Given the description of an element on the screen output the (x, y) to click on. 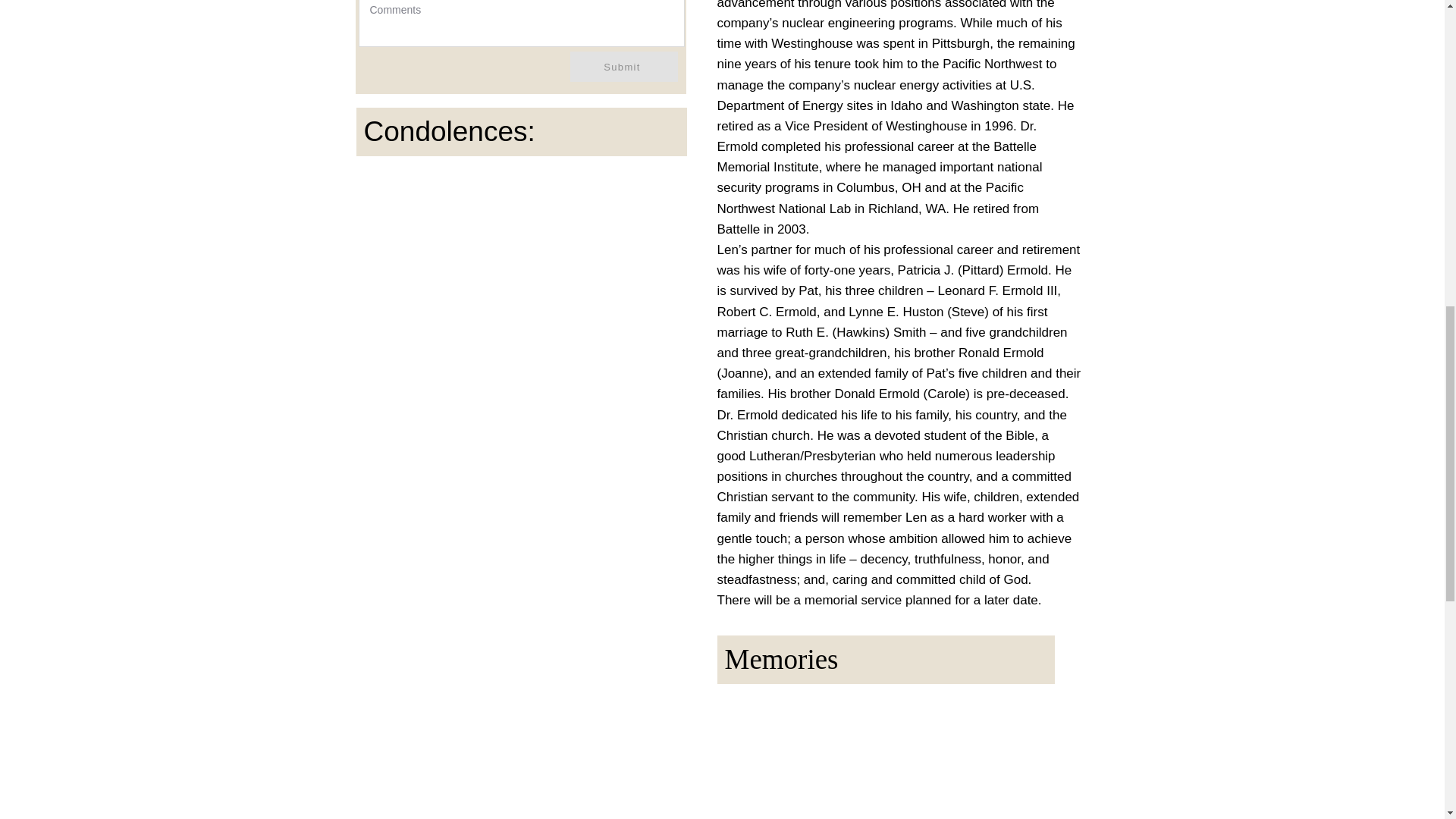
Submit (624, 66)
